Given the description of an element on the screen output the (x, y) to click on. 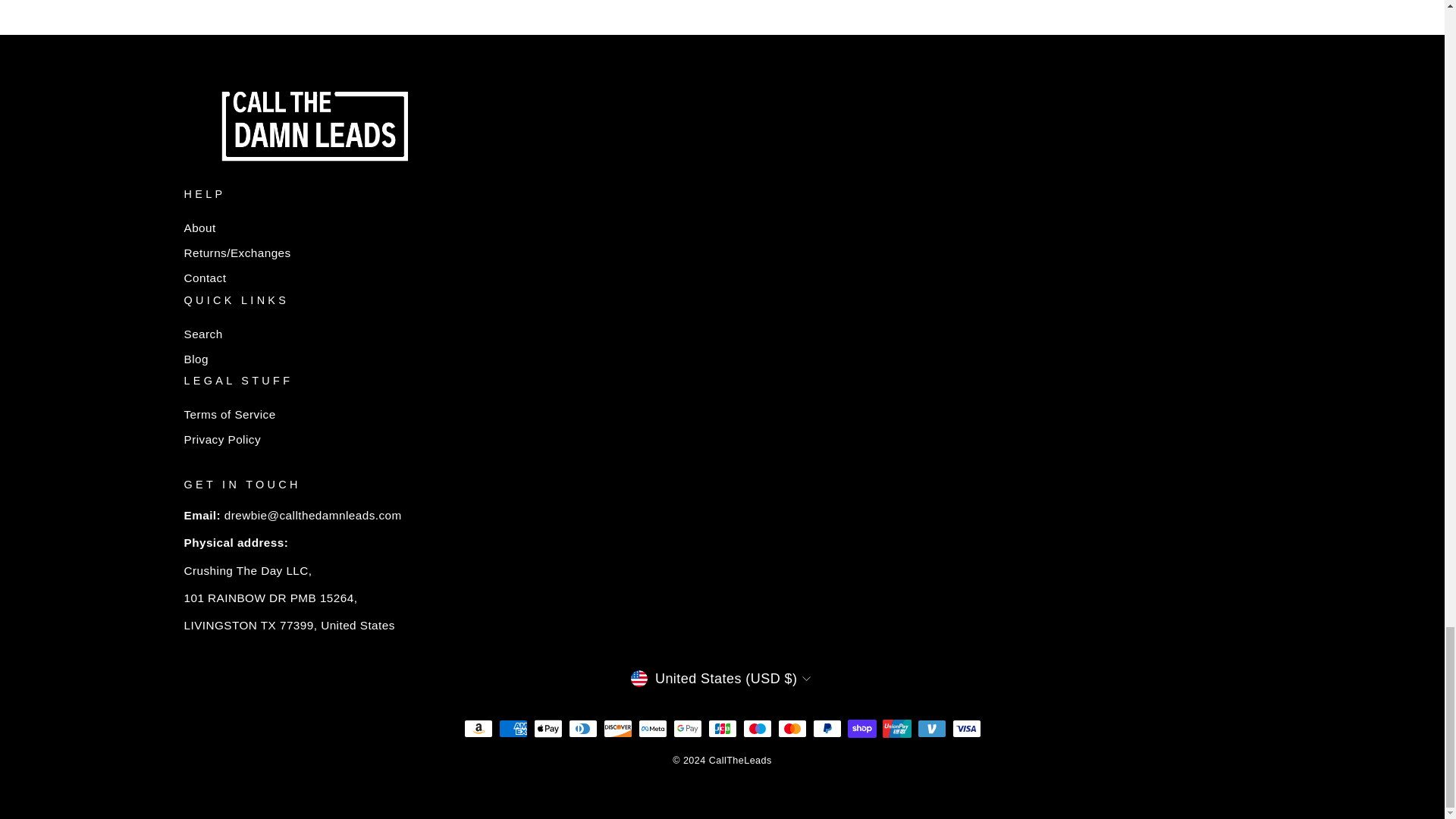
Meta Pay (652, 728)
Apple Pay (548, 728)
Diners Club (582, 728)
Amazon (478, 728)
Google Pay (686, 728)
Discover (617, 728)
American Express (513, 728)
